Given the description of an element on the screen output the (x, y) to click on. 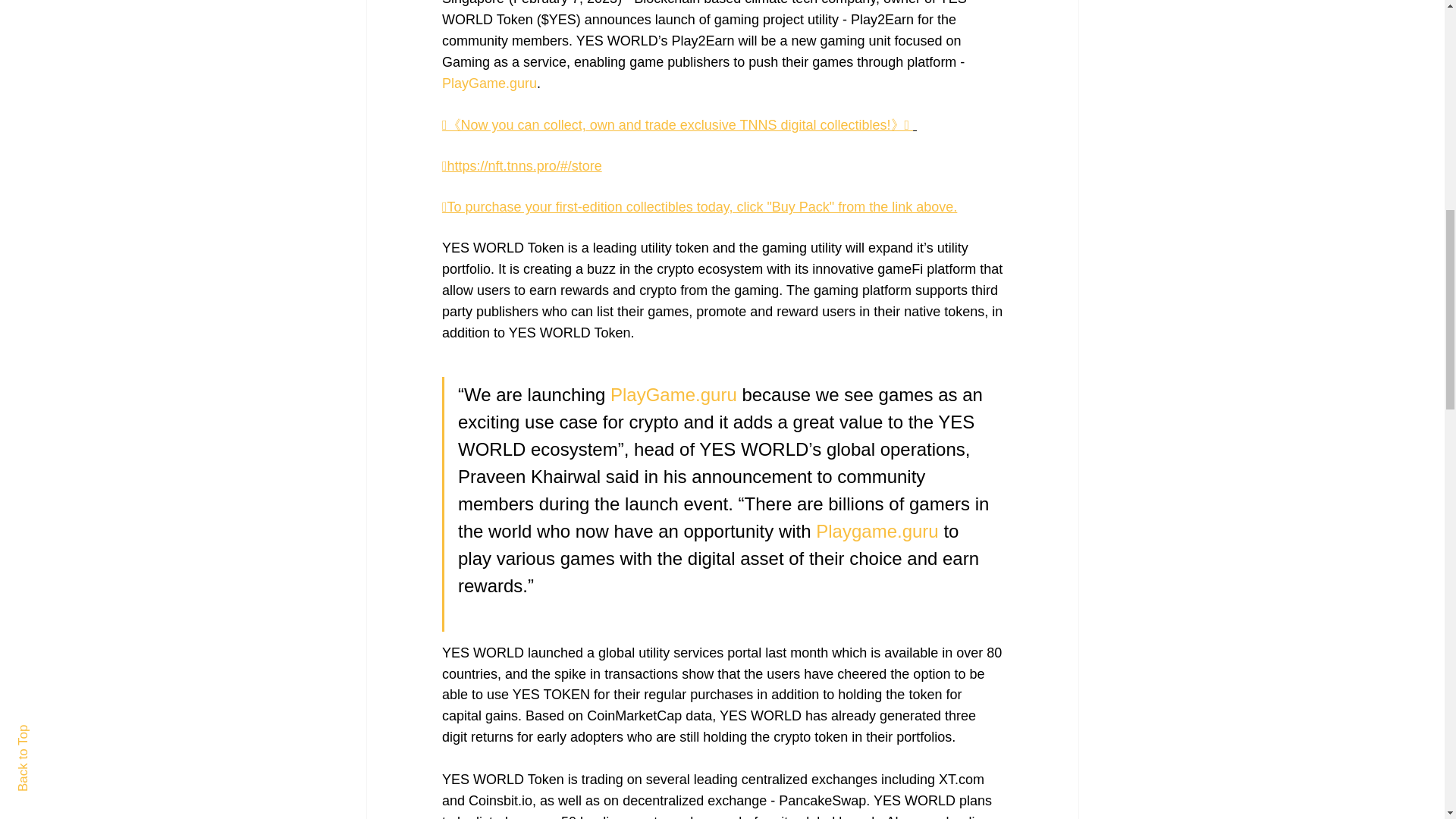
PlayGame.guru (488, 83)
Playgame.guru (876, 530)
PlayGame.guru (673, 394)
